Given the description of an element on the screen output the (x, y) to click on. 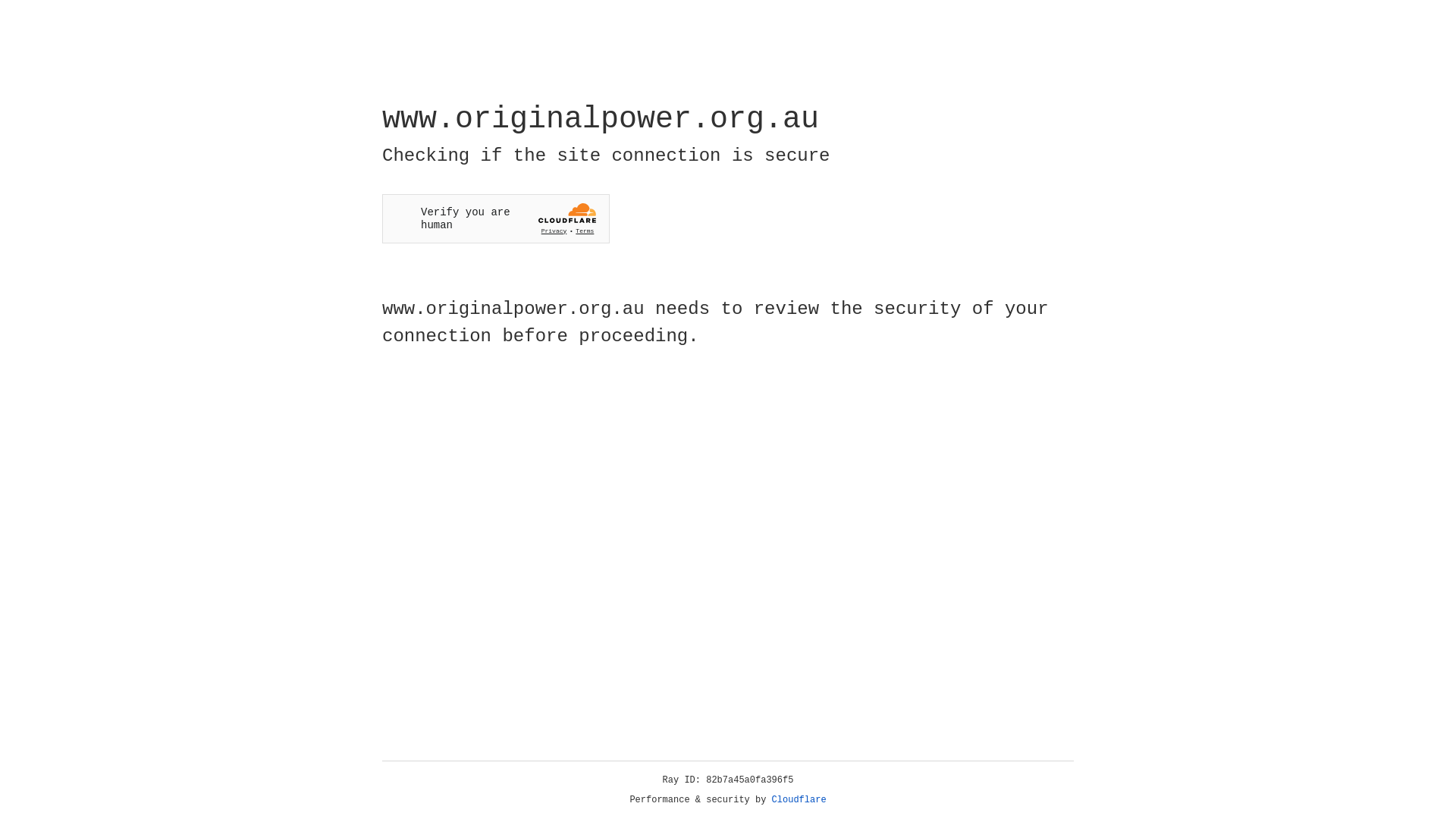
Widget containing a Cloudflare security challenge Element type: hover (495, 218)
Cloudflare Element type: text (798, 799)
